Given the description of an element on the screen output the (x, y) to click on. 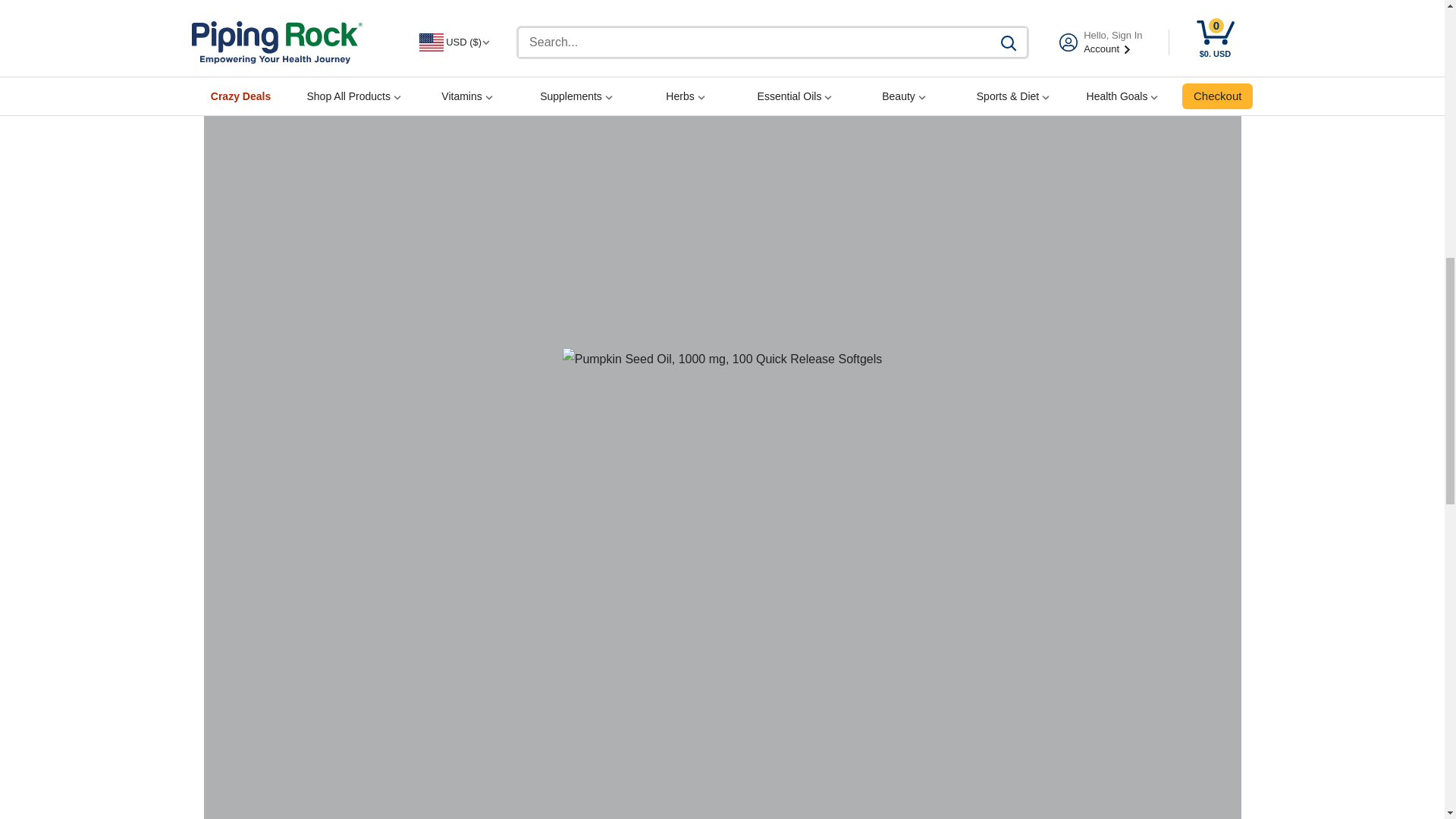
50 (1160, 6)
